Given the description of an element on the screen output the (x, y) to click on. 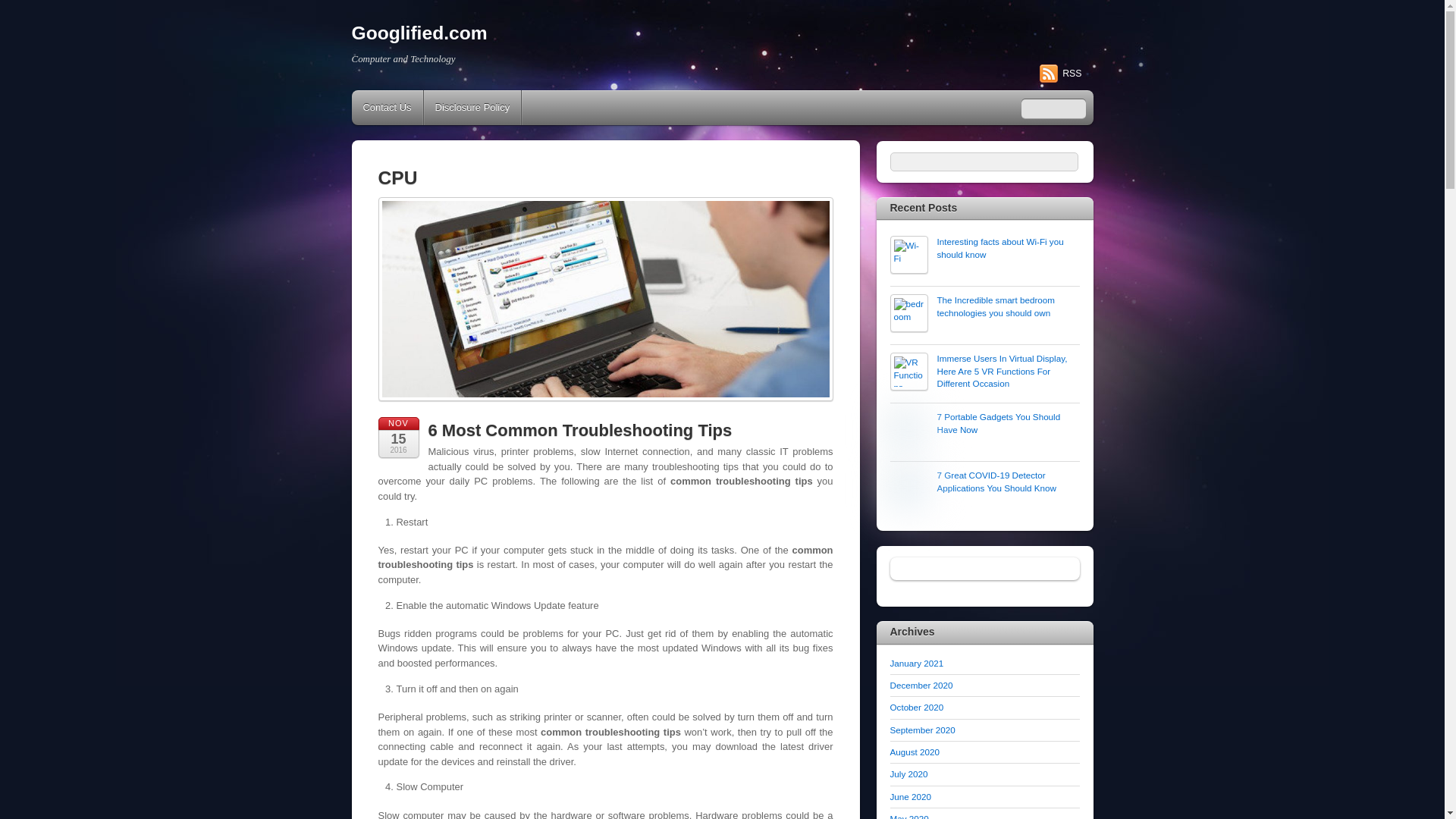
Googlified.com (419, 32)
Search (983, 161)
Search (1052, 108)
6 Most Common Troubleshooting Tips (580, 429)
Contact Us (387, 107)
Googlified.com (419, 32)
RSS (1060, 73)
common troubleshooting tips (604, 299)
Disclosure Policy (472, 107)
